Given the description of an element on the screen output the (x, y) to click on. 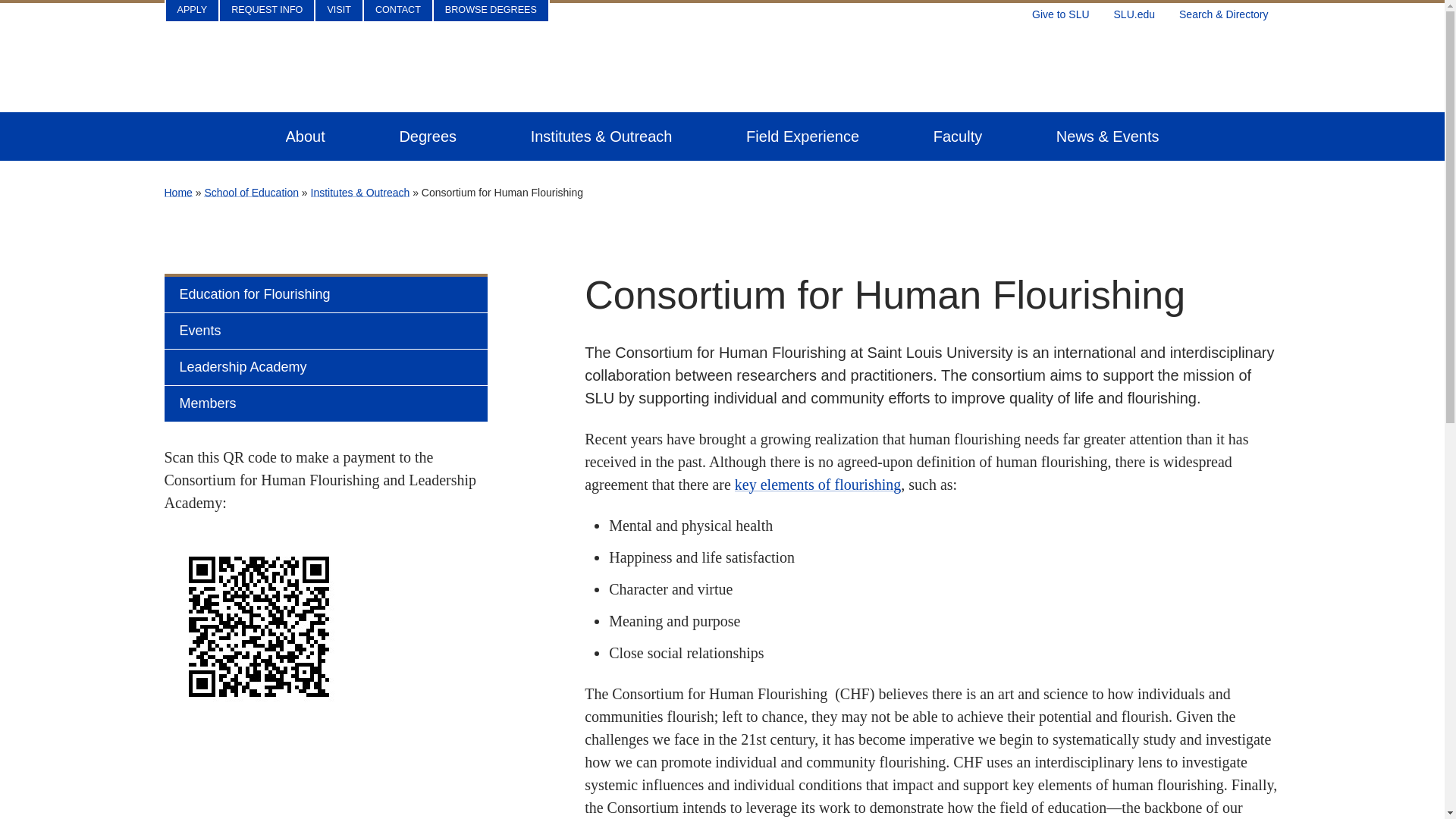
Request Information from Saint Louis University (266, 10)
SLU.edu (1133, 10)
Visit Saint Louis University (338, 10)
Faculty (957, 135)
Field Experience (802, 135)
Faculty of School of Education (957, 135)
Degrees (427, 135)
BROWSE DEGREES (490, 10)
School of Education (250, 192)
Give to SLU (1060, 10)
Home (177, 192)
Members (307, 403)
Give to SLU (1060, 10)
key elements of flourishing (818, 484)
